Given the description of an element on the screen output the (x, y) to click on. 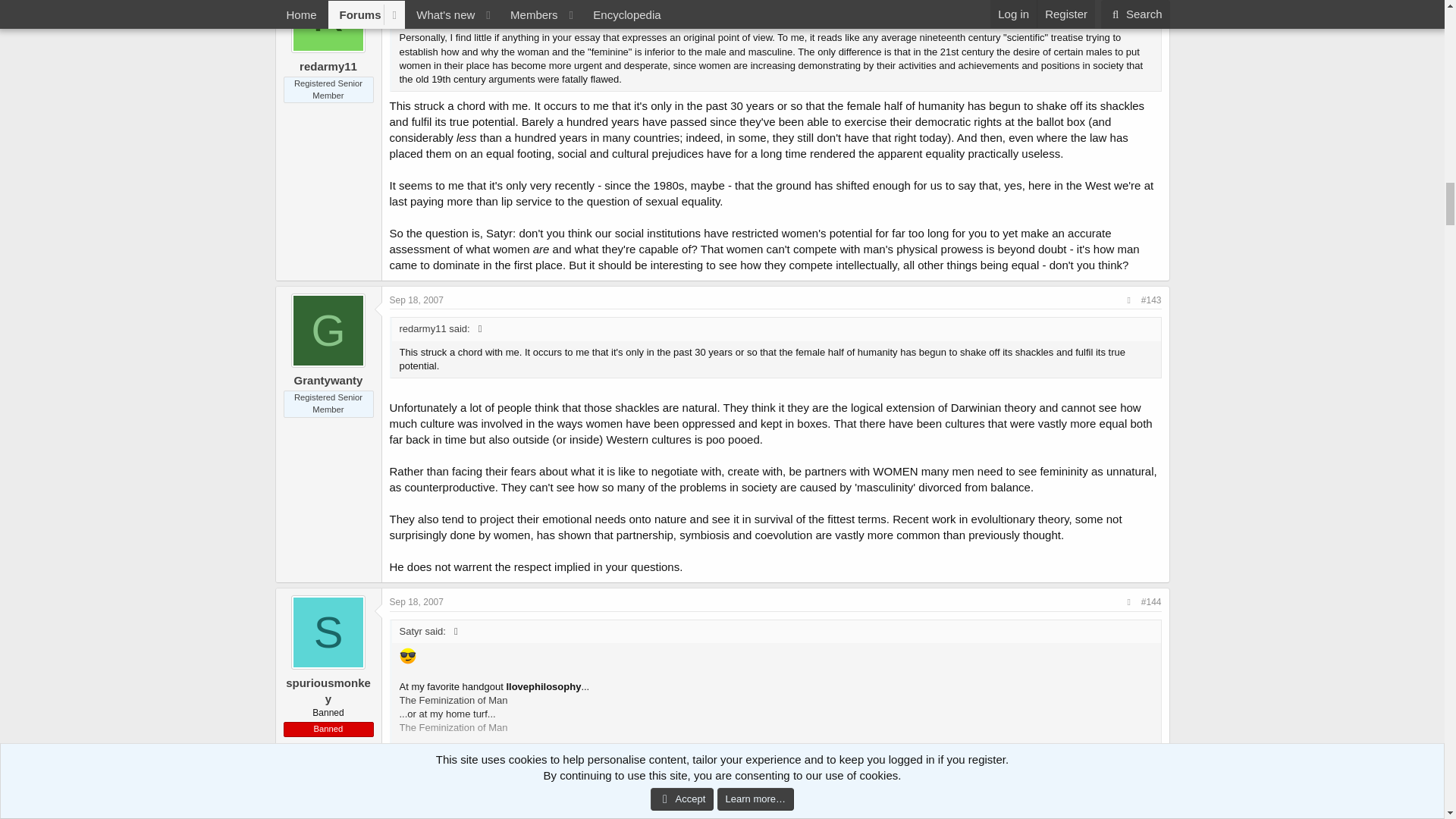
Cool    :cool: (406, 655)
Sep 18, 2007 at 9:09 AM (417, 299)
Sep 18, 2007 at 11:03 AM (417, 602)
